Given the description of an element on the screen output the (x, y) to click on. 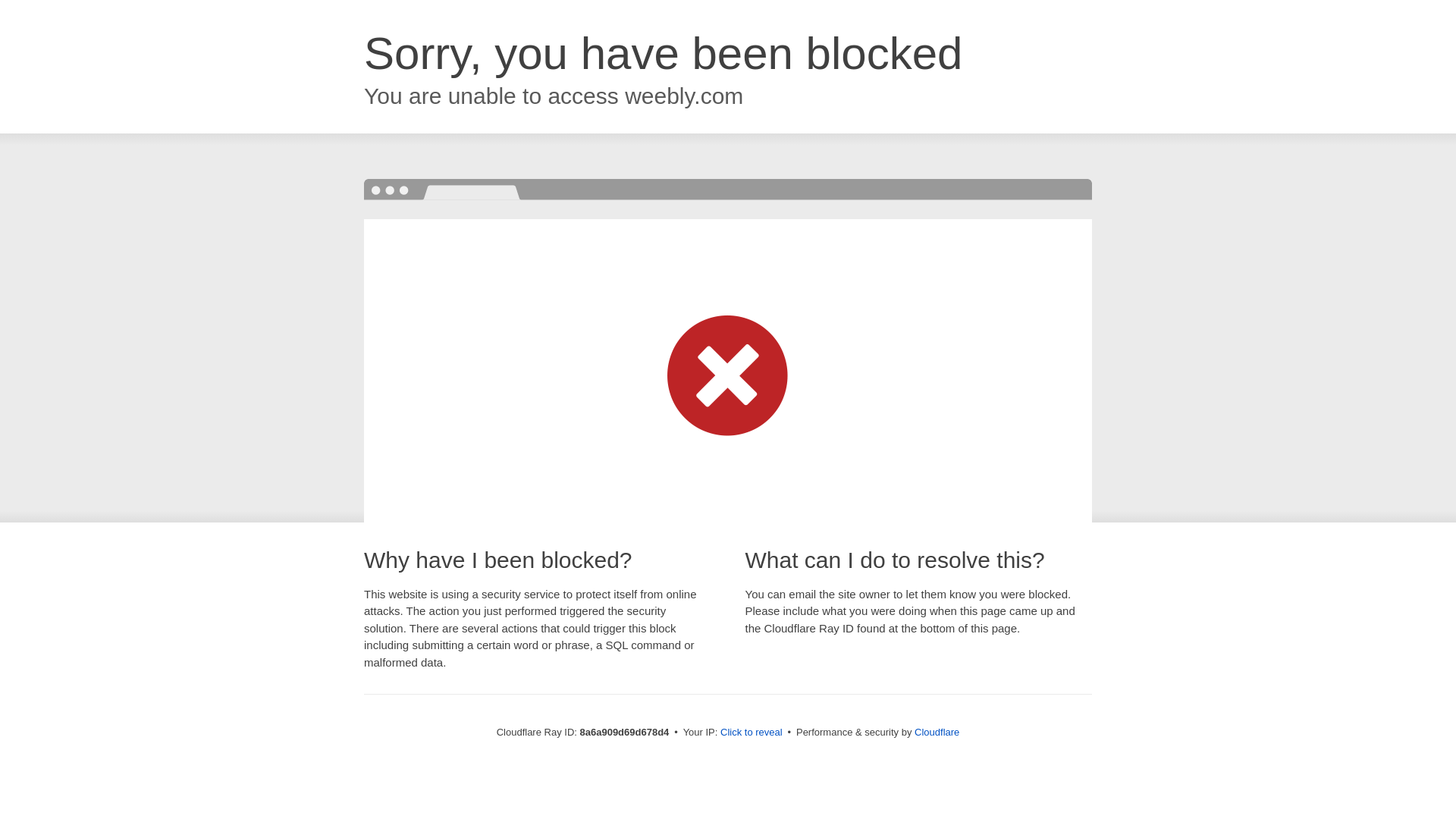
Cloudflare (936, 731)
Click to reveal (751, 732)
